Given the description of an element on the screen output the (x, y) to click on. 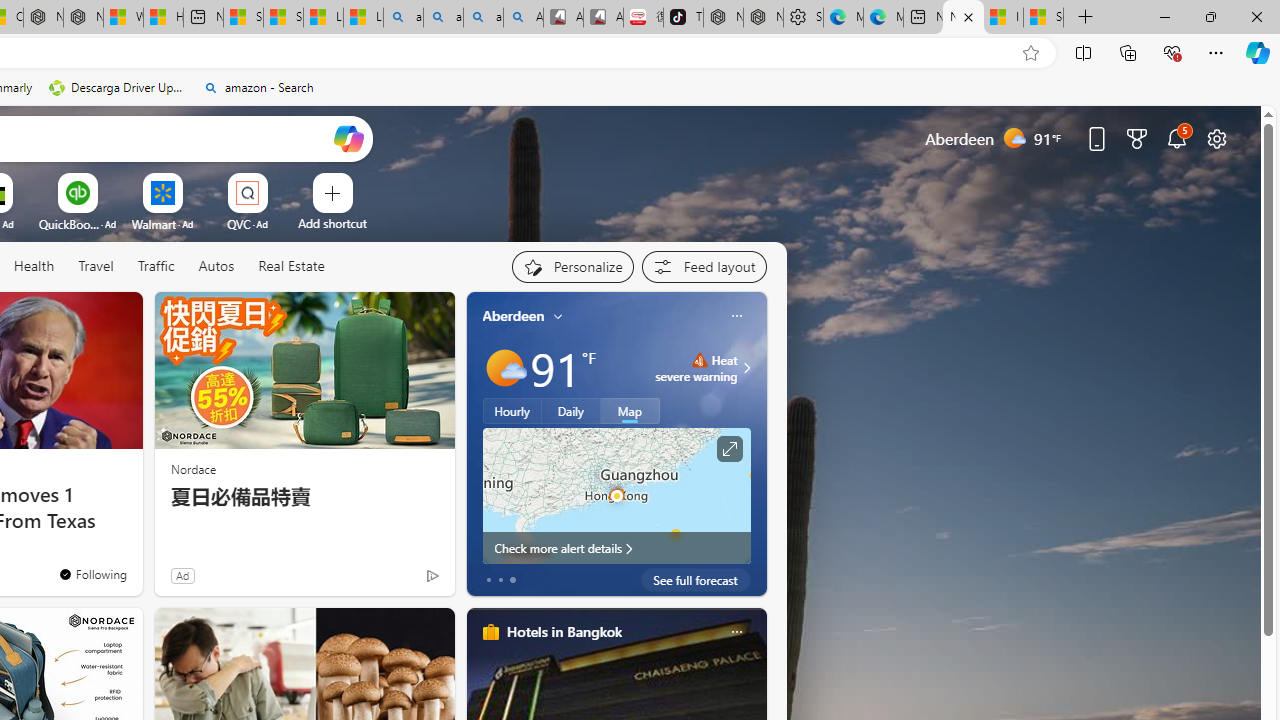
TikTok (683, 17)
Hourly (511, 411)
Personalize your feed" (571, 266)
Heat - Severe (699, 359)
amazon - Search Images (483, 17)
Nordace Siena Pro 15 Backpack (763, 17)
Click to see more information (728, 449)
